Given the description of an element on the screen output the (x, y) to click on. 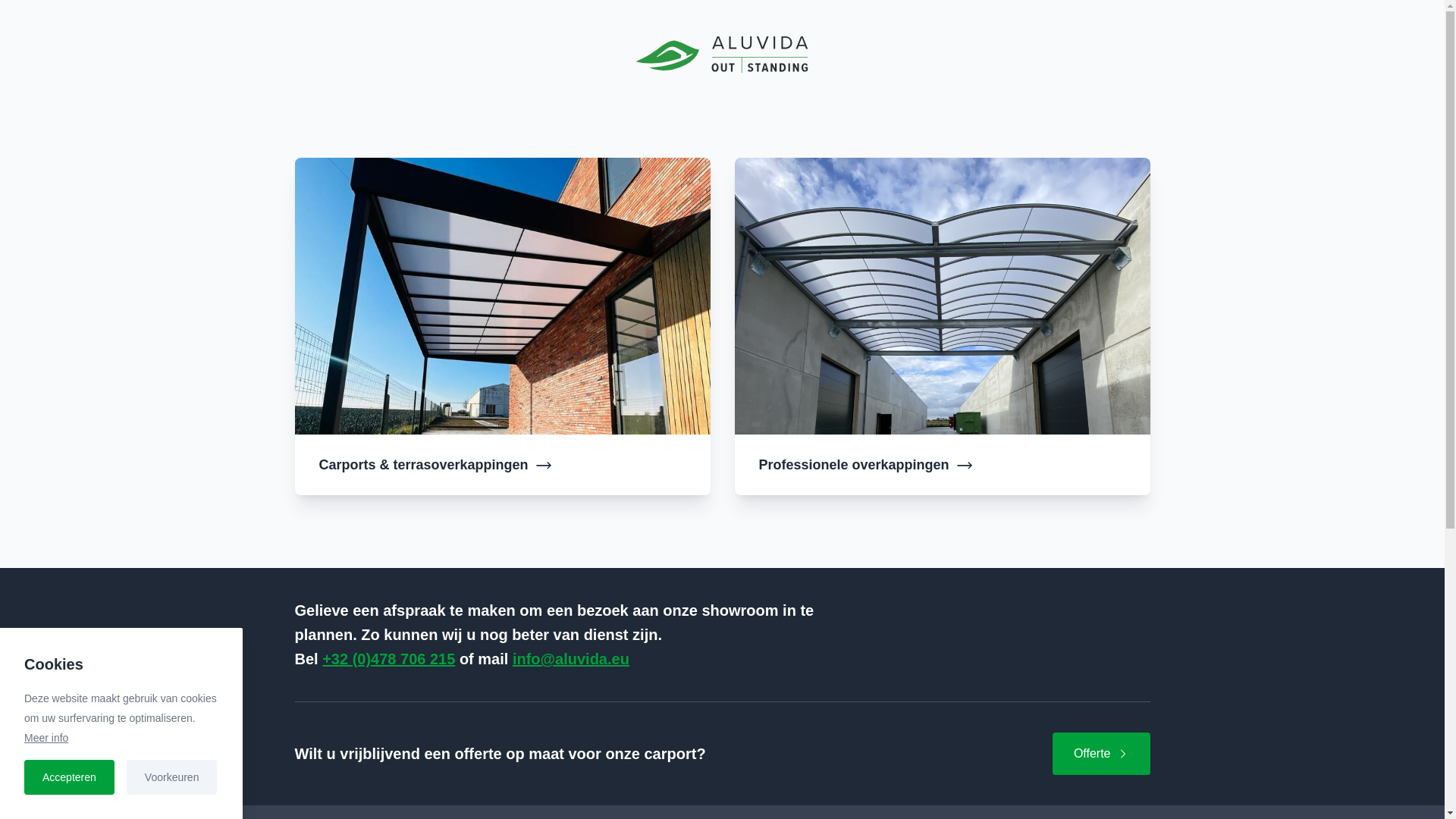
Meer info Element type: text (46, 737)
+32 (0)478 706 215 Element type: text (388, 658)
Voorkeuren Element type: text (171, 776)
Carports & terrasoverkappingen Element type: text (501, 464)
Professionele overkappingen Element type: text (941, 464)
Offerte Element type: text (1101, 753)
Terug naar home Element type: hover (721, 54)
info@aluvida.eu Element type: text (570, 658)
Accepteren Element type: text (69, 776)
